Given the description of an element on the screen output the (x, y) to click on. 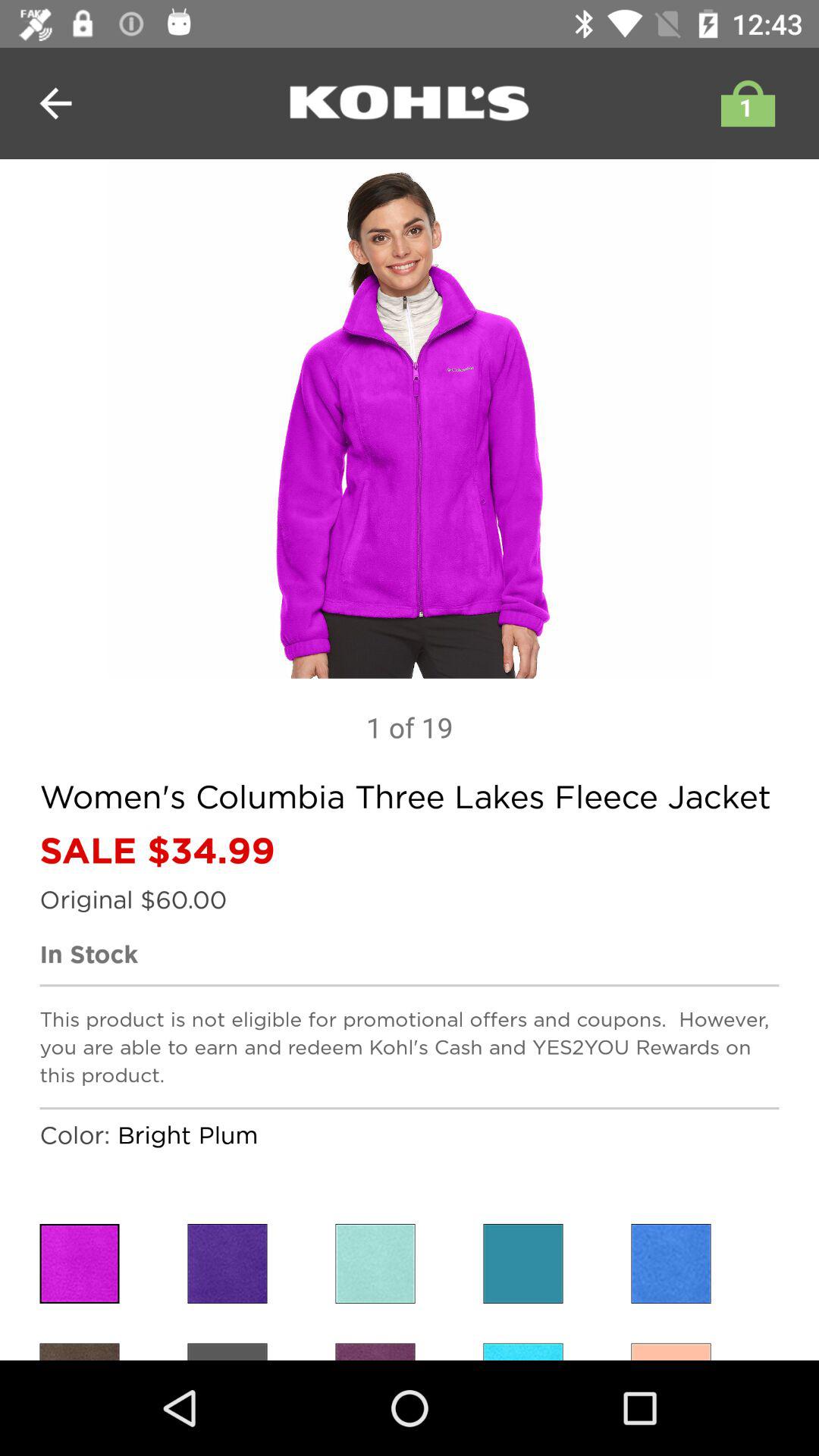
toggle color (670, 1263)
